Given the description of an element on the screen output the (x, y) to click on. 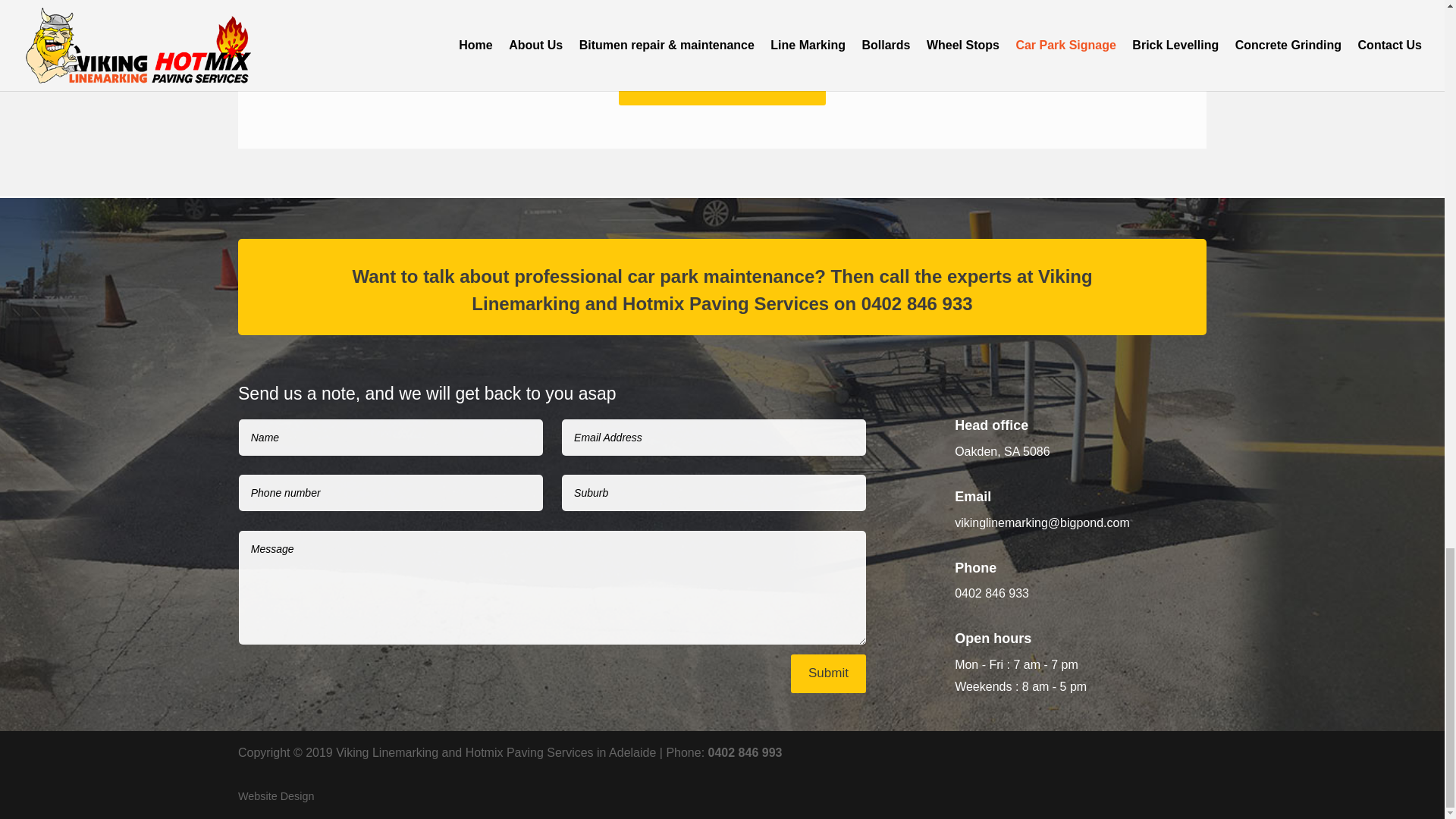
Submit (828, 673)
Phone (975, 567)
CALL NOW ON 0402 846 933 (721, 85)
Website Design (276, 796)
website adelaide (276, 796)
Email (973, 496)
0402 846 993 (745, 752)
